Given the description of an element on the screen output the (x, y) to click on. 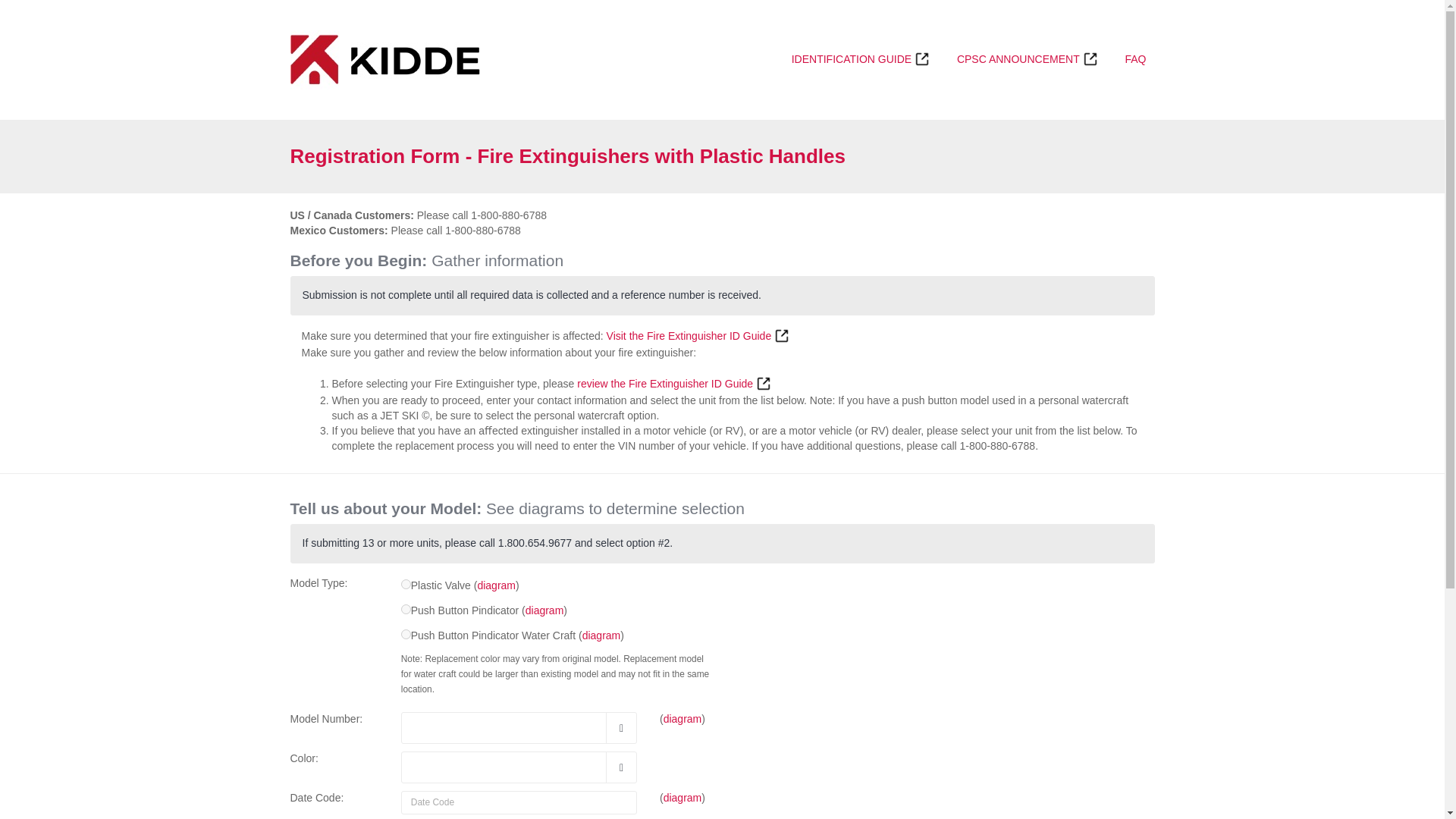
diagram (682, 718)
IDENTIFICATION GUIDE (860, 59)
review the Fire Extinguisher ID Guide (673, 383)
diagram (544, 610)
diagram (682, 797)
FAQ (1135, 58)
PlasticValve (405, 583)
diagram (496, 585)
diagram (601, 635)
Visit the Fire Extinguisher ID Guide (698, 336)
CPSC ANNOUNCEMENT (1027, 59)
PindicatorWater (405, 634)
Pindicator (405, 609)
